Given the description of an element on the screen output the (x, y) to click on. 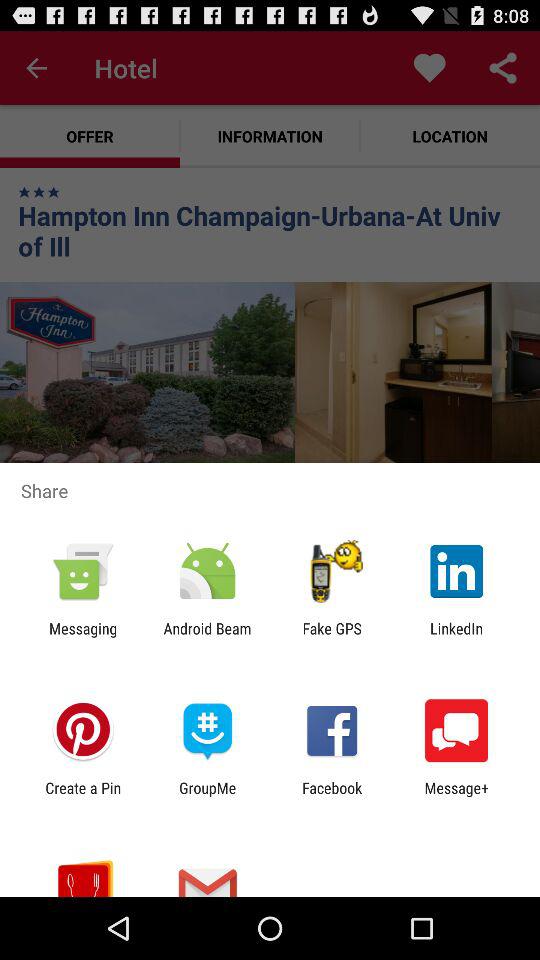
select the fake gps item (331, 637)
